Given the description of an element on the screen output the (x, y) to click on. 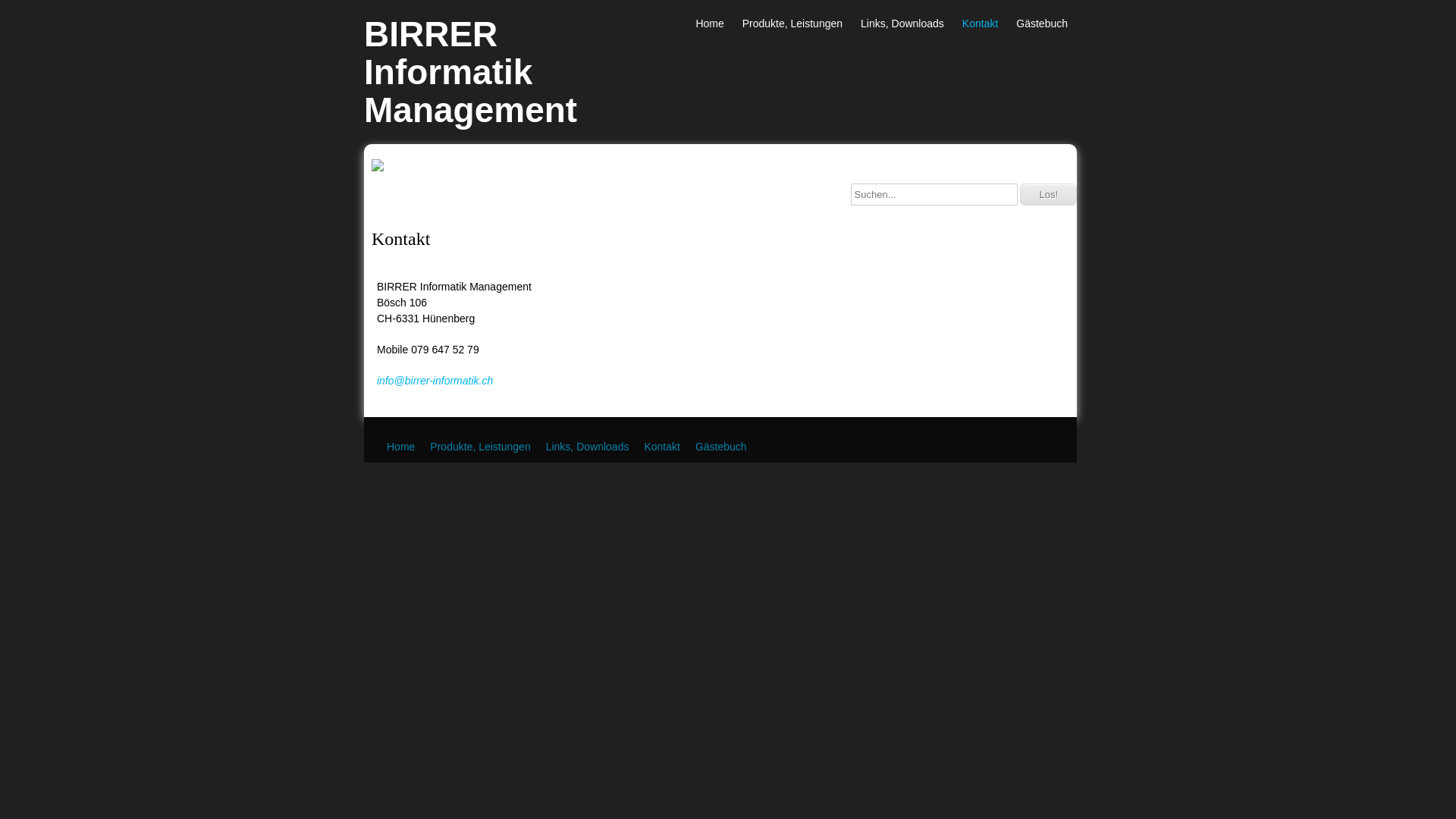
Links, Downloads Element type: text (902, 23)
Home Element type: text (709, 23)
Produkte, Leistungen Element type: text (792, 23)
Links, Downloads Element type: text (587, 446)
Los! Element type: text (1047, 194)
Kontakt Element type: text (661, 446)
BIRRER Informatik Management Element type: text (447, 71)
info@birrer-informatik.ch Element type: text (434, 380)
Home Element type: text (400, 446)
Produkte, Leistungen Element type: text (479, 446)
Kontakt Element type: text (979, 23)
